Given the description of an element on the screen output the (x, y) to click on. 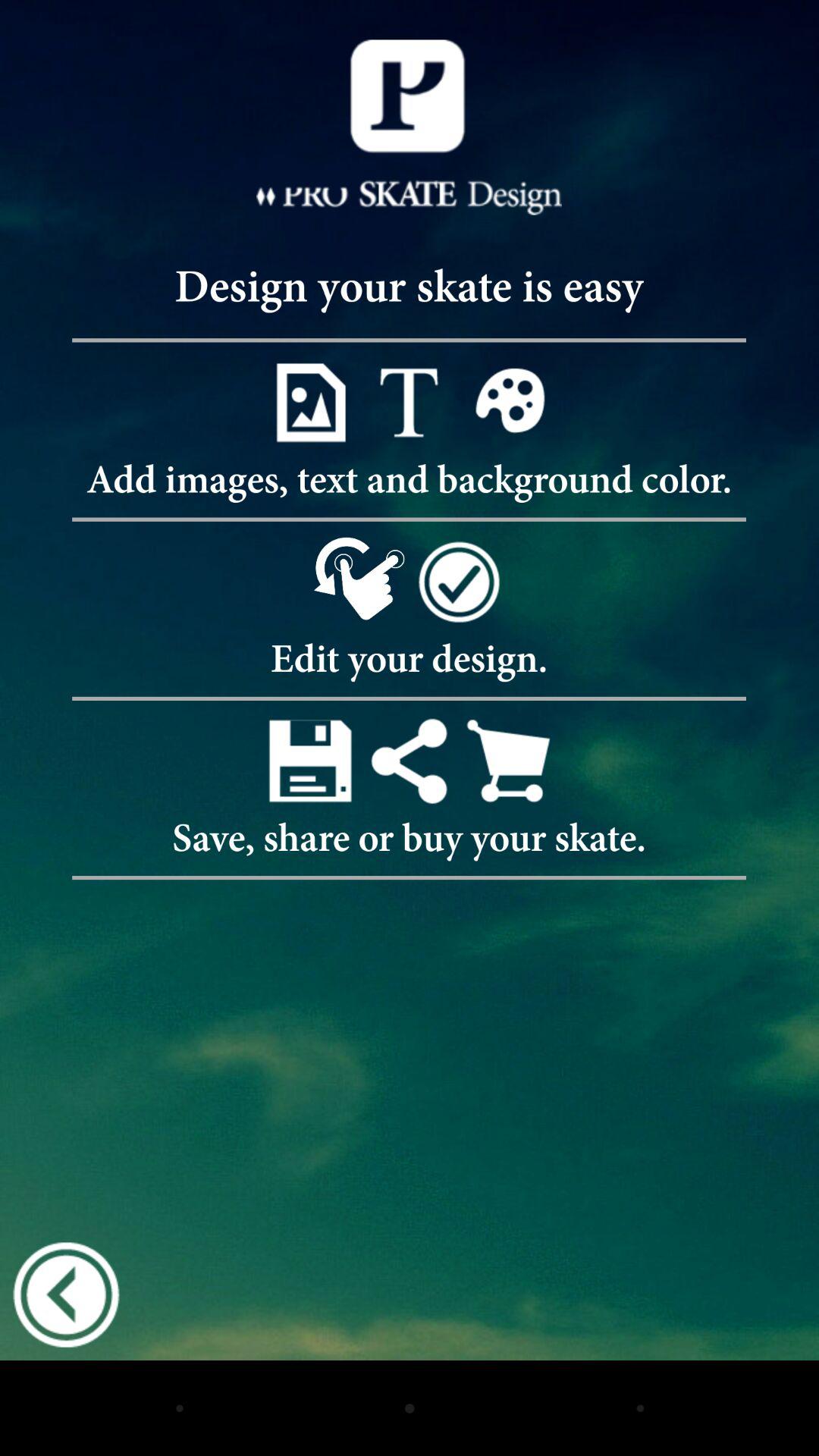
share your skate (408, 760)
